Given the description of an element on the screen output the (x, y) to click on. 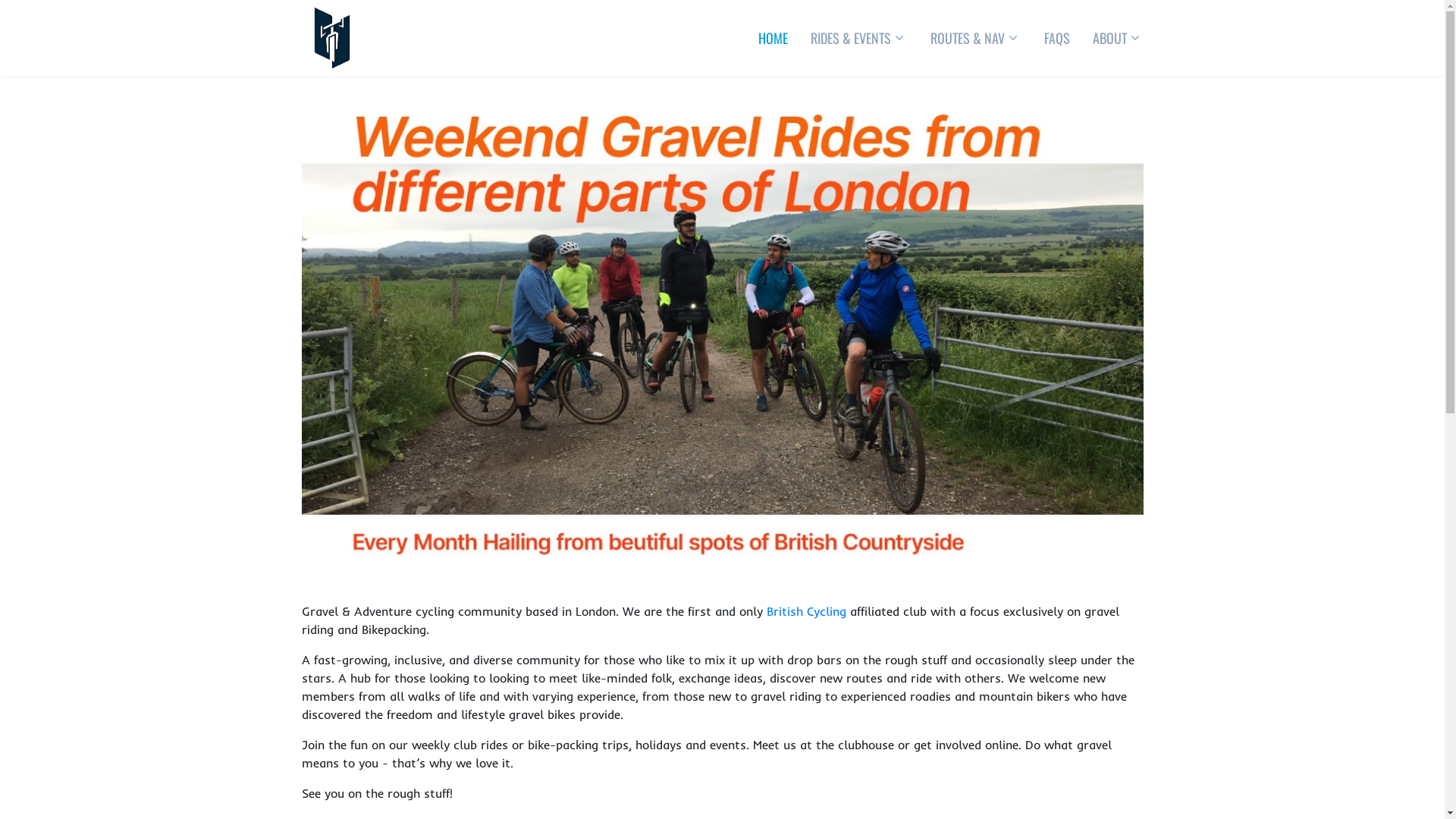
RIDES & EVENTS Element type: text (850, 37)
HOME Element type: text (772, 37)
FAQS Element type: text (1056, 37)
British Cycling Element type: text (805, 610)
ABOUT Element type: text (1109, 37)
ROUTES & NAV Element type: text (967, 37)
